Given the description of an element on the screen output the (x, y) to click on. 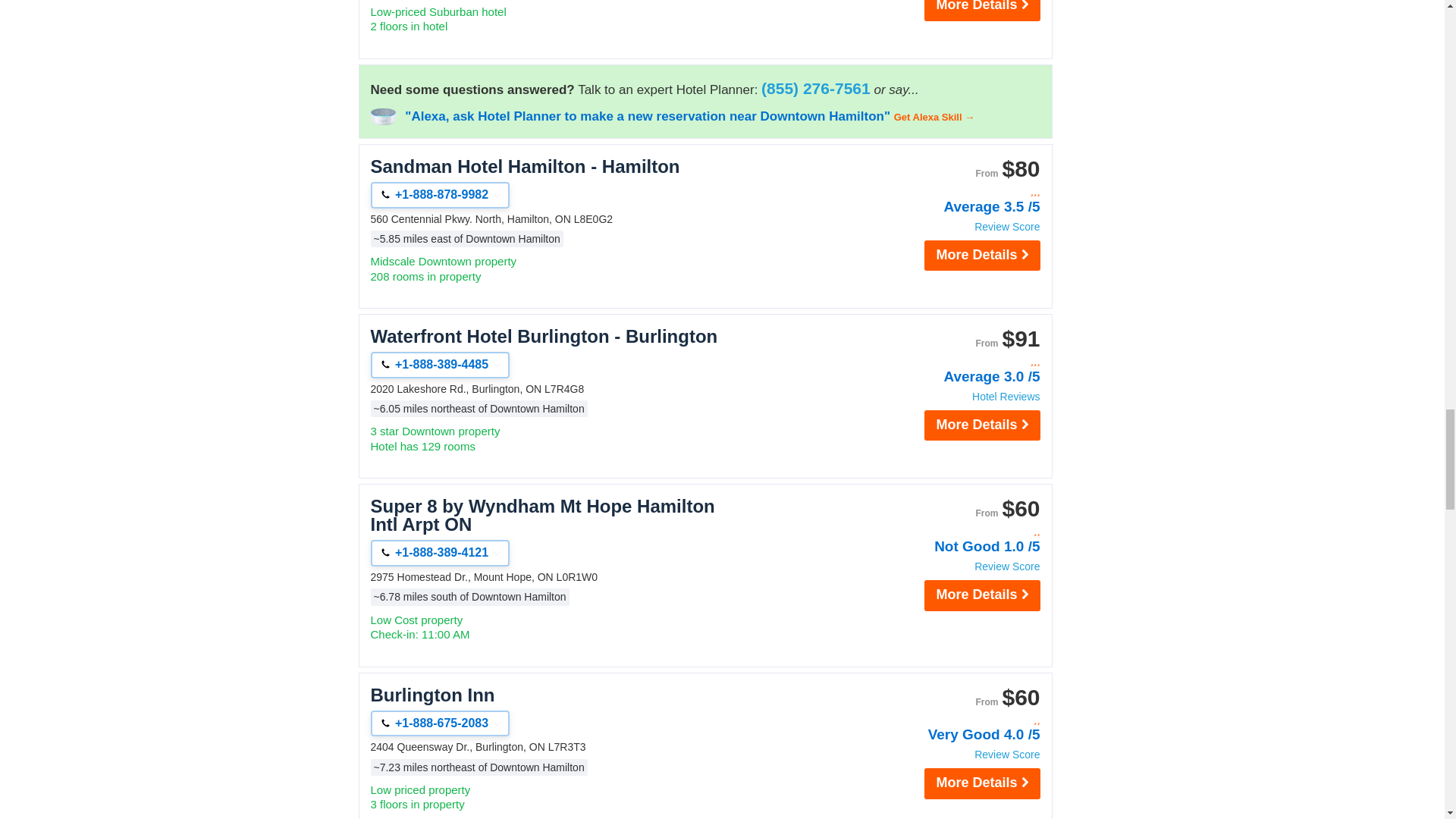
3 stars (958, 360)
2 stars (958, 530)
3 stars (958, 191)
2 stars (958, 719)
